Given the description of an element on the screen output the (x, y) to click on. 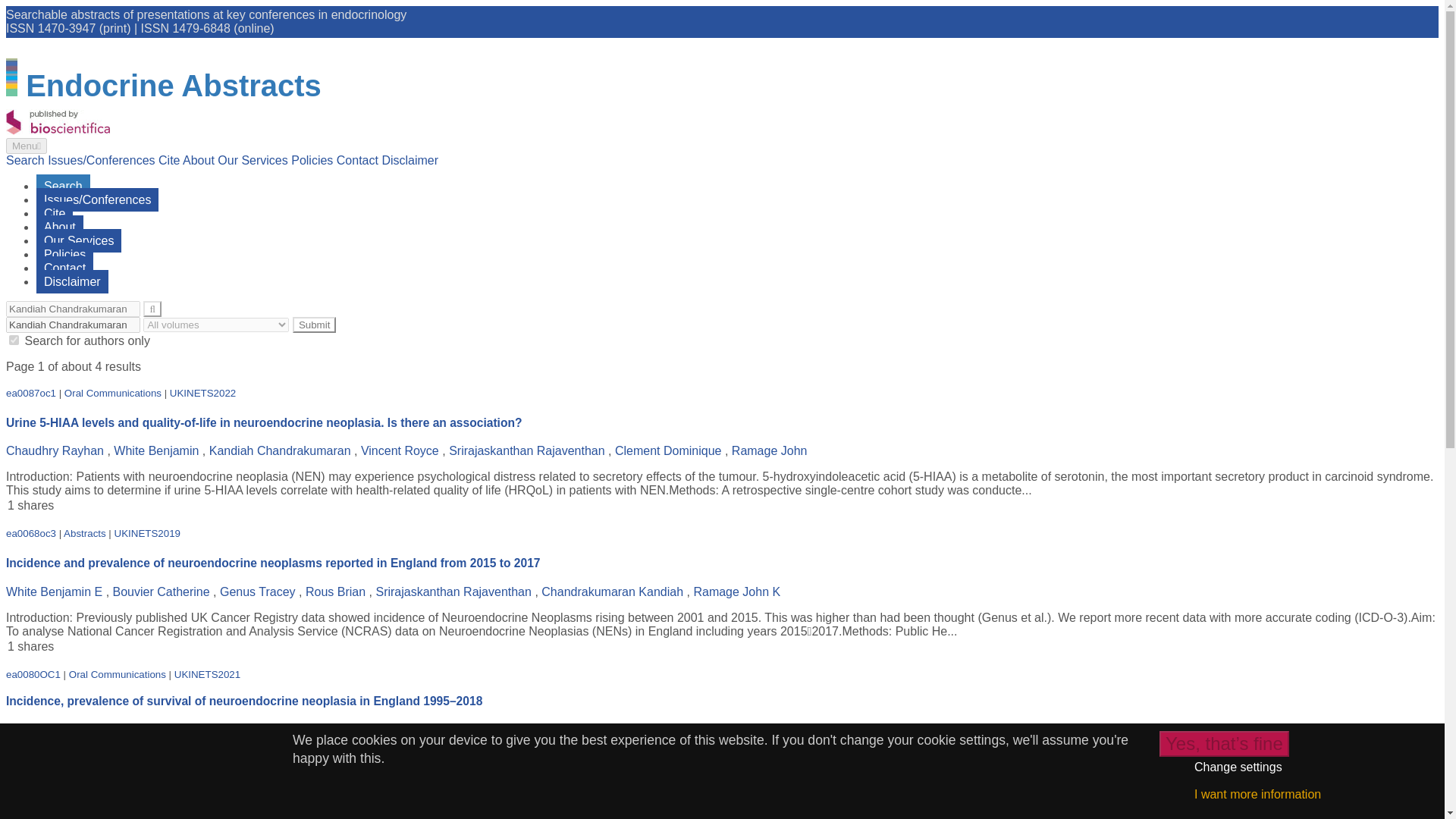
Vincent Royce (400, 450)
Ramage John (770, 450)
ea0087oc1 (30, 392)
Disclaimer (71, 281)
Our Services (253, 160)
UKINETS2019 (147, 532)
I want more information (1256, 794)
Cite (54, 213)
Kandiah Chandrakumaran (72, 324)
Our Services (78, 240)
Search (63, 186)
Kandiah Chandrakumaran (72, 308)
Endocrine Abstracts (173, 85)
Contact (64, 268)
